Given the description of an element on the screen output the (x, y) to click on. 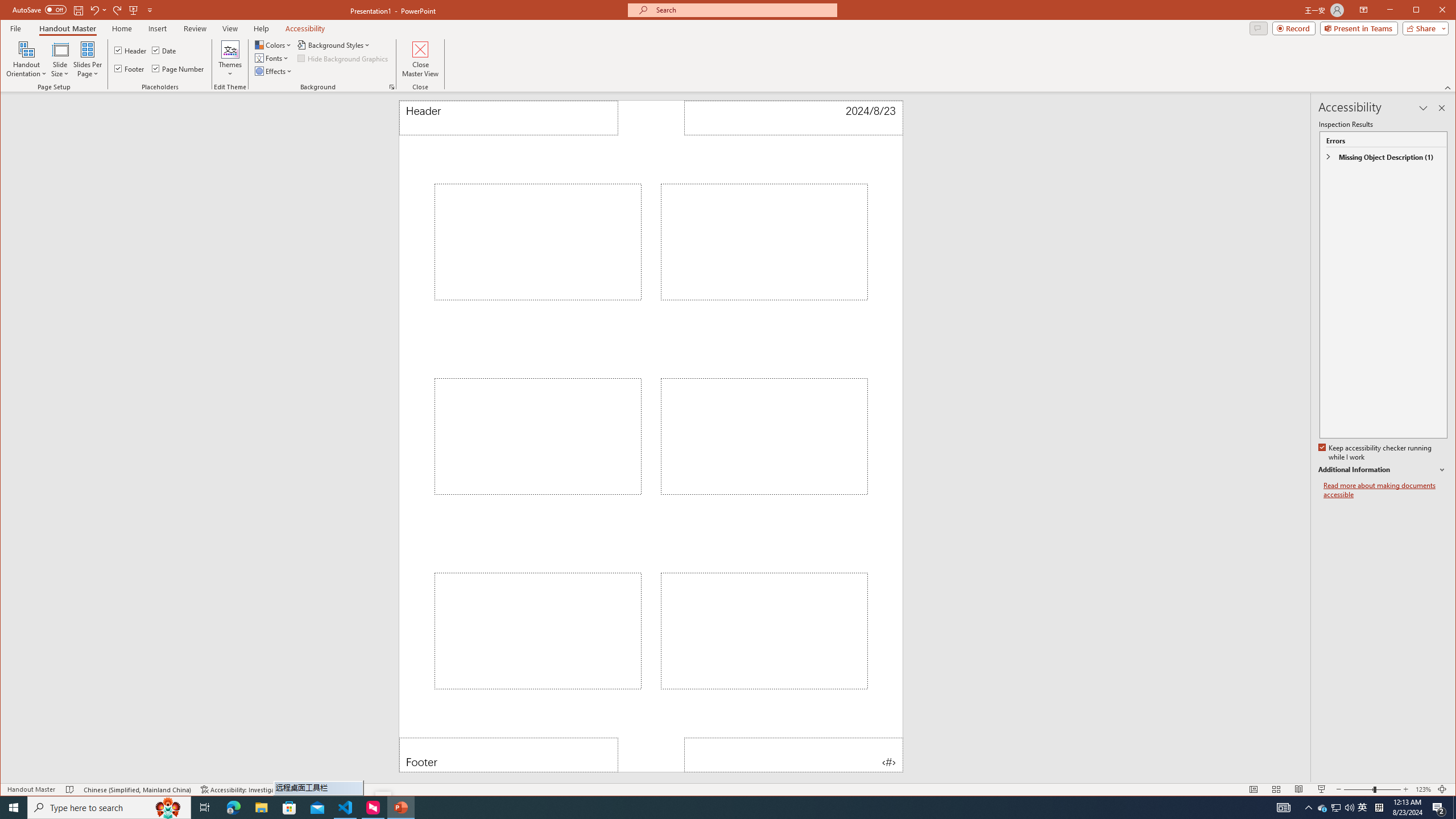
Handout Master (67, 28)
Zoom 123% (1422, 789)
Show desktop (1322, 807)
Header (1454, 807)
Tray Input Indicator - Chinese (Simplified, China) (130, 49)
Visual Studio Code - 1 running window (1378, 807)
Fonts (345, 807)
